Given the description of an element on the screen output the (x, y) to click on. 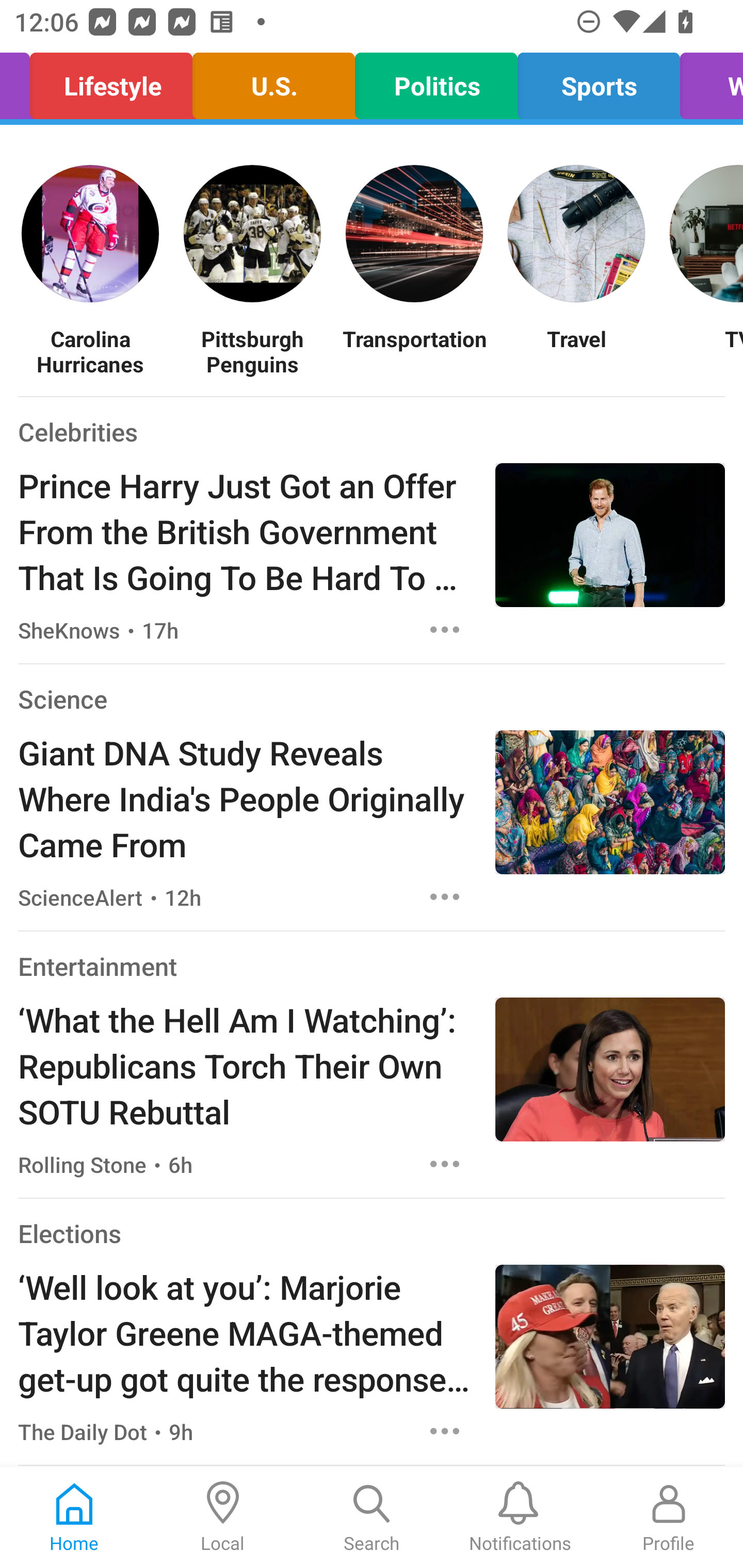
Lifestyle (111, 81)
U.S. (273, 81)
Politics (436, 81)
Sports (598, 81)
Carolina Hurricanes (89, 350)
Pittsburgh Penguins (251, 350)
Transportation (413, 350)
Travel (575, 350)
Celebrities (77, 430)
Options (444, 629)
Science (61, 699)
Options (444, 896)
Entertainment (97, 965)
Options (444, 1164)
Elections (69, 1232)
Options (444, 1431)
Local (222, 1517)
Search (371, 1517)
Notifications (519, 1517)
Profile (668, 1517)
